Given the description of an element on the screen output the (x, y) to click on. 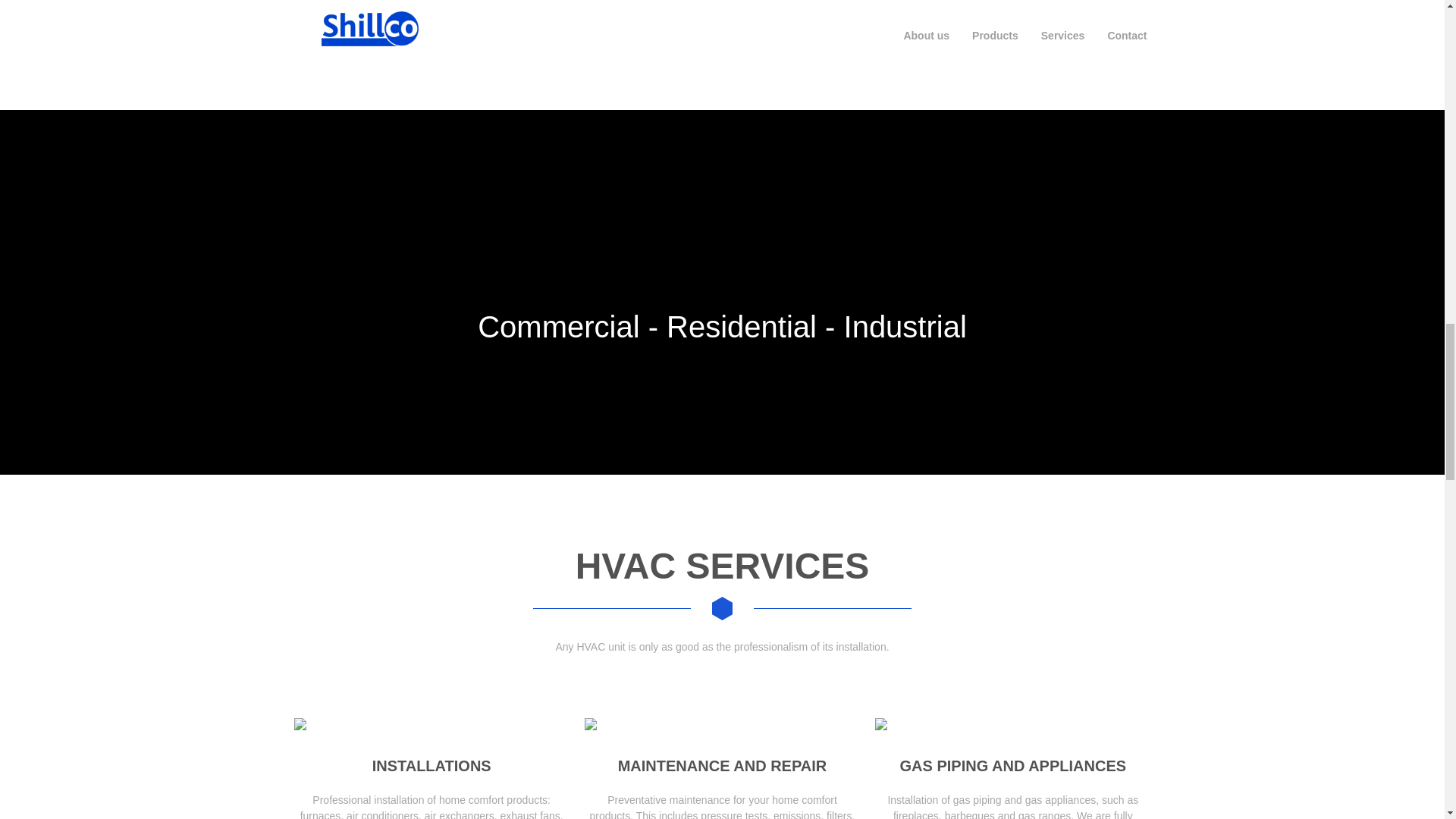
INSTALLATIONS (432, 765)
GAS PIPING AND APPLIANCES (1012, 765)
MAINTENANCE AND REPAIR (722, 765)
